Given the description of an element on the screen output the (x, y) to click on. 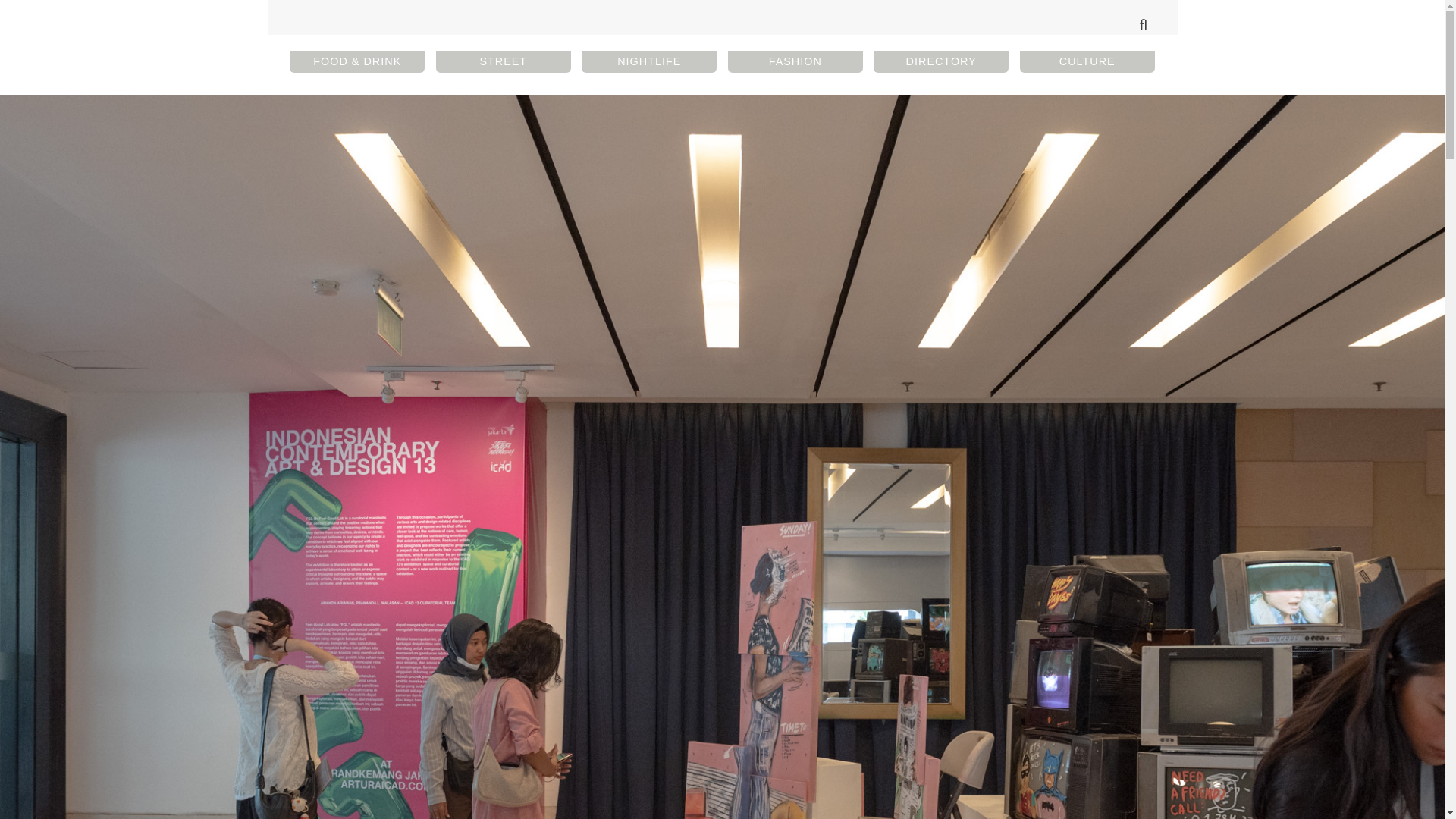
Exploring Emotion at ICAD 13: Feel Good Lab - Manual Jakarta (722, 23)
Exploring Emotion at ICAD 13: Feel Good Lab - Manual Jakarta (722, 23)
DIRECTORY (941, 61)
NIGHTLIFE (648, 61)
STREET (502, 61)
CULTURE (1087, 61)
FASHION (795, 61)
